Given the description of an element on the screen output the (x, y) to click on. 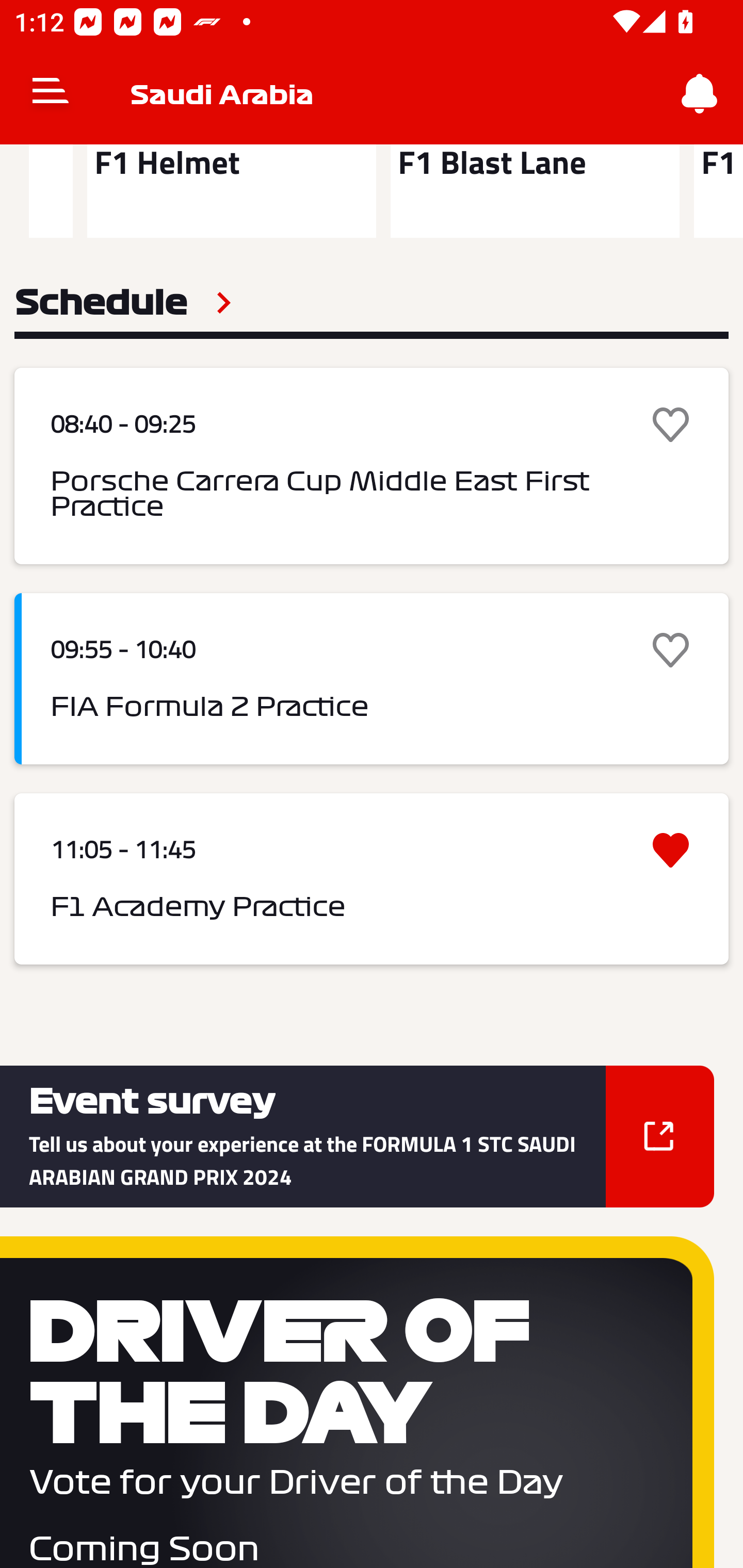
Navigate up (50, 93)
Notifications (699, 93)
F1 Helmet (230, 191)
F1 Blast Lane (534, 191)
Schedule (122, 302)
09:55 - 10:40 FIA Formula 2 Practice (371, 678)
11:05 - 11:45 F1 Academy Practice (371, 878)
